Given the description of an element on the screen output the (x, y) to click on. 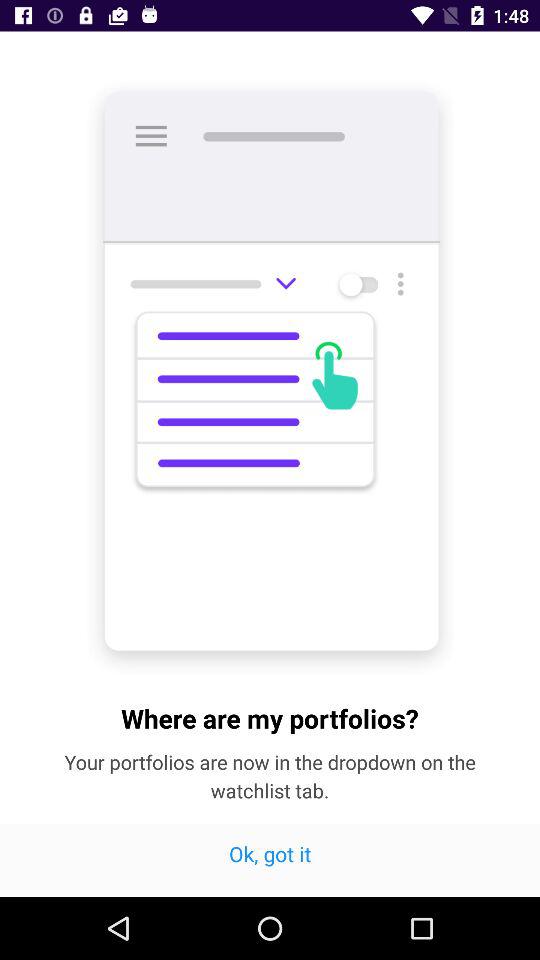
press ok, got it item (270, 859)
